Given the description of an element on the screen output the (x, y) to click on. 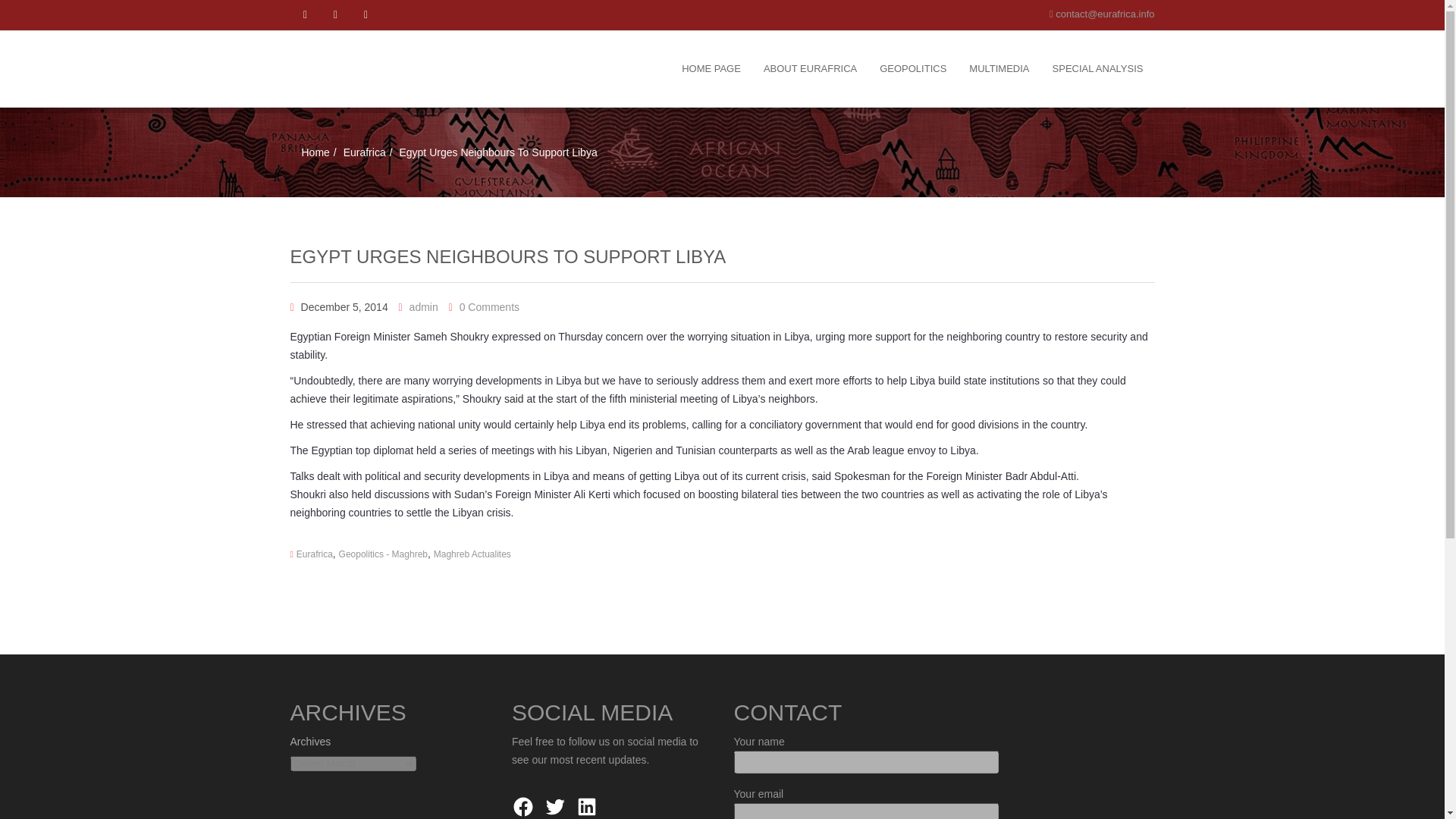
Home Page (710, 69)
Eurafrica (315, 553)
MULTIMEDIA (999, 69)
Eurafrica (364, 152)
Geopolitics - Maghreb (383, 553)
Maghreb Actualites (472, 553)
Geopolitics (912, 69)
0 Comments (489, 306)
About Eurafrica (809, 69)
GEOPOLITICS (912, 69)
Multimedia (999, 69)
EGYPT URGES NEIGHBOURS TO SUPPORT LIBYA (507, 256)
Home (315, 152)
HOME PAGE (710, 69)
